Given the description of an element on the screen output the (x, y) to click on. 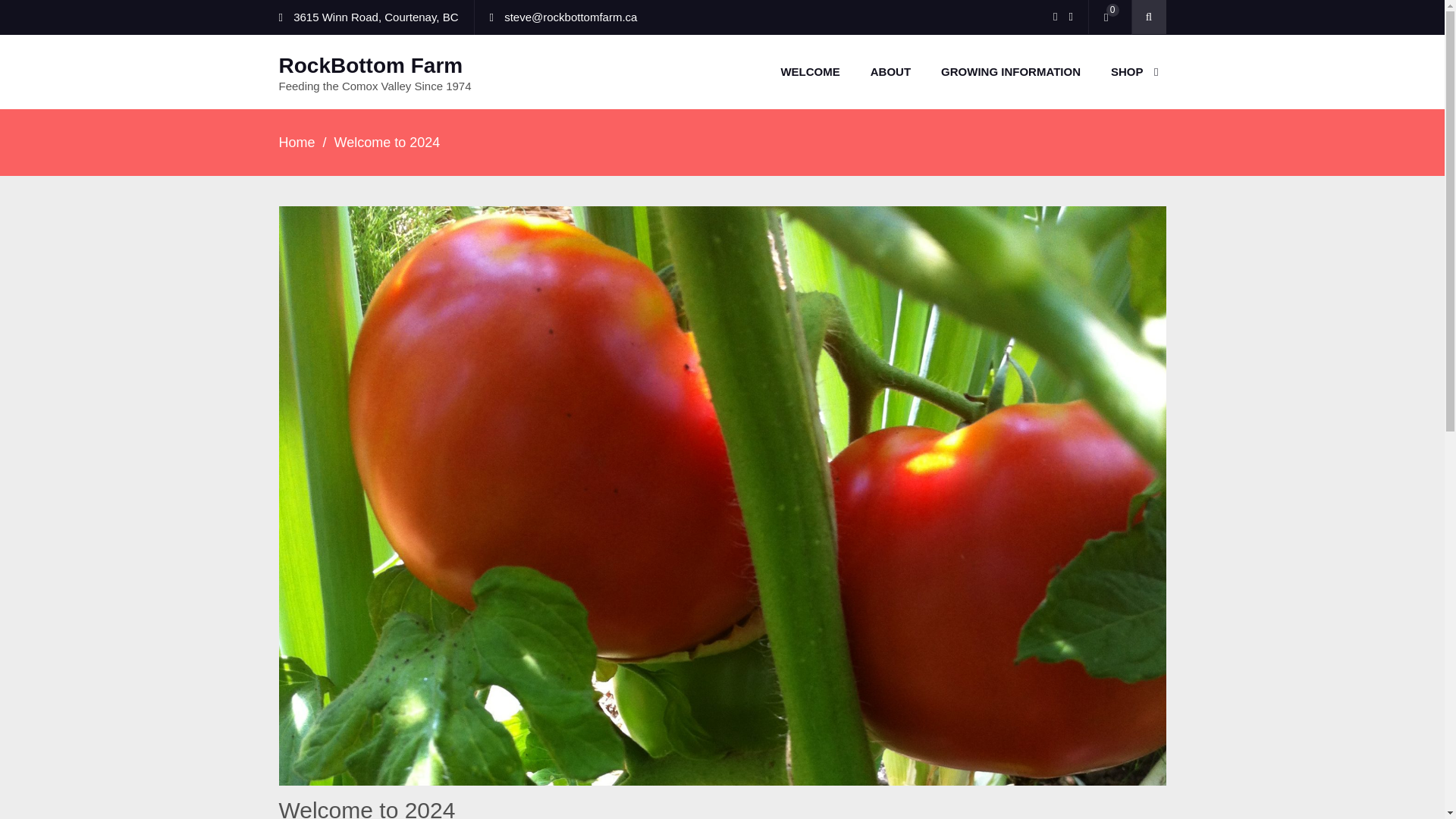
RockBottom Farm (371, 65)
Home (297, 142)
SHOP (1131, 71)
WELCOME (809, 71)
ABOUT (891, 71)
0 (1109, 17)
GROWING INFORMATION (1011, 71)
